Given the description of an element on the screen output the (x, y) to click on. 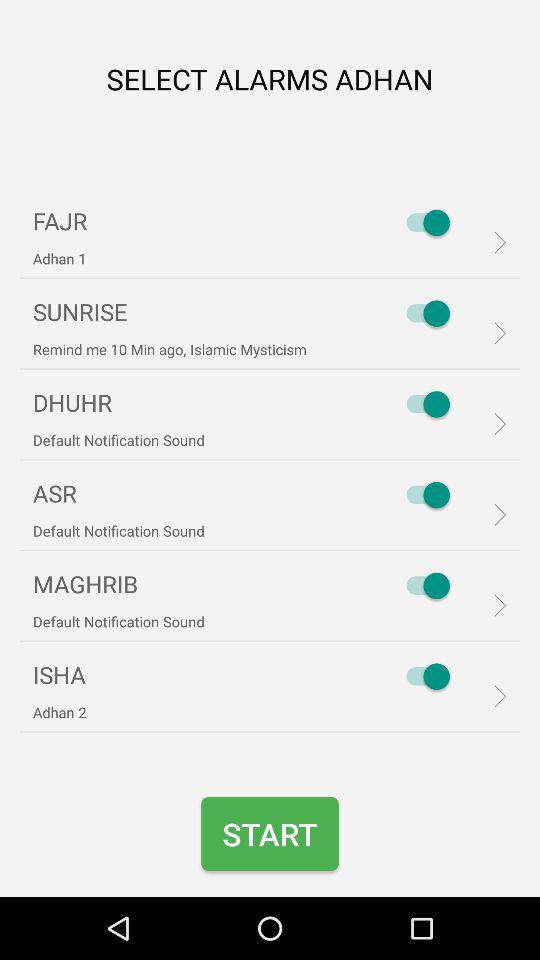
switch isha alarm option (423, 676)
